Given the description of an element on the screen output the (x, y) to click on. 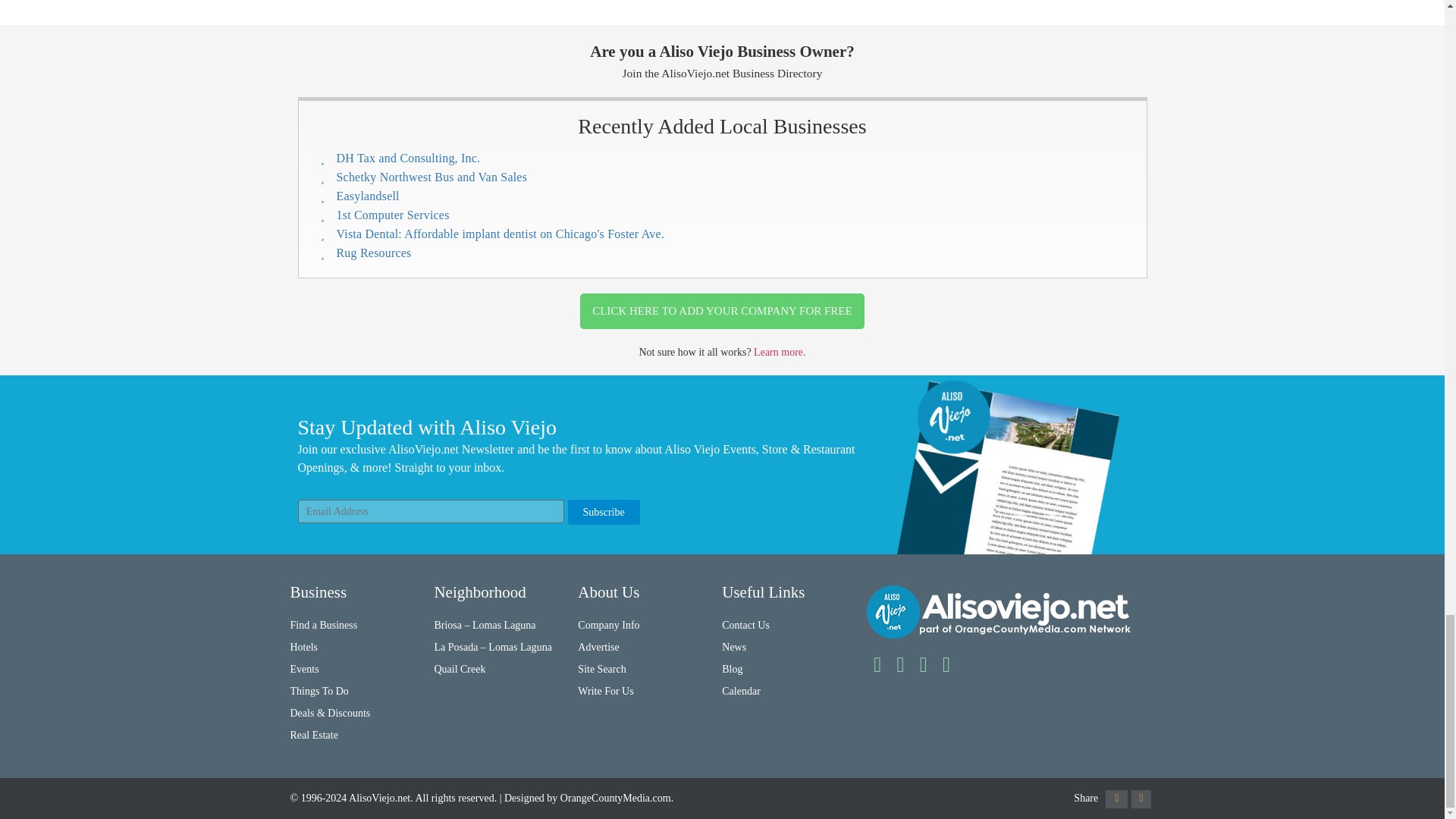
Subscribe (603, 511)
